Given the description of an element on the screen output the (x, y) to click on. 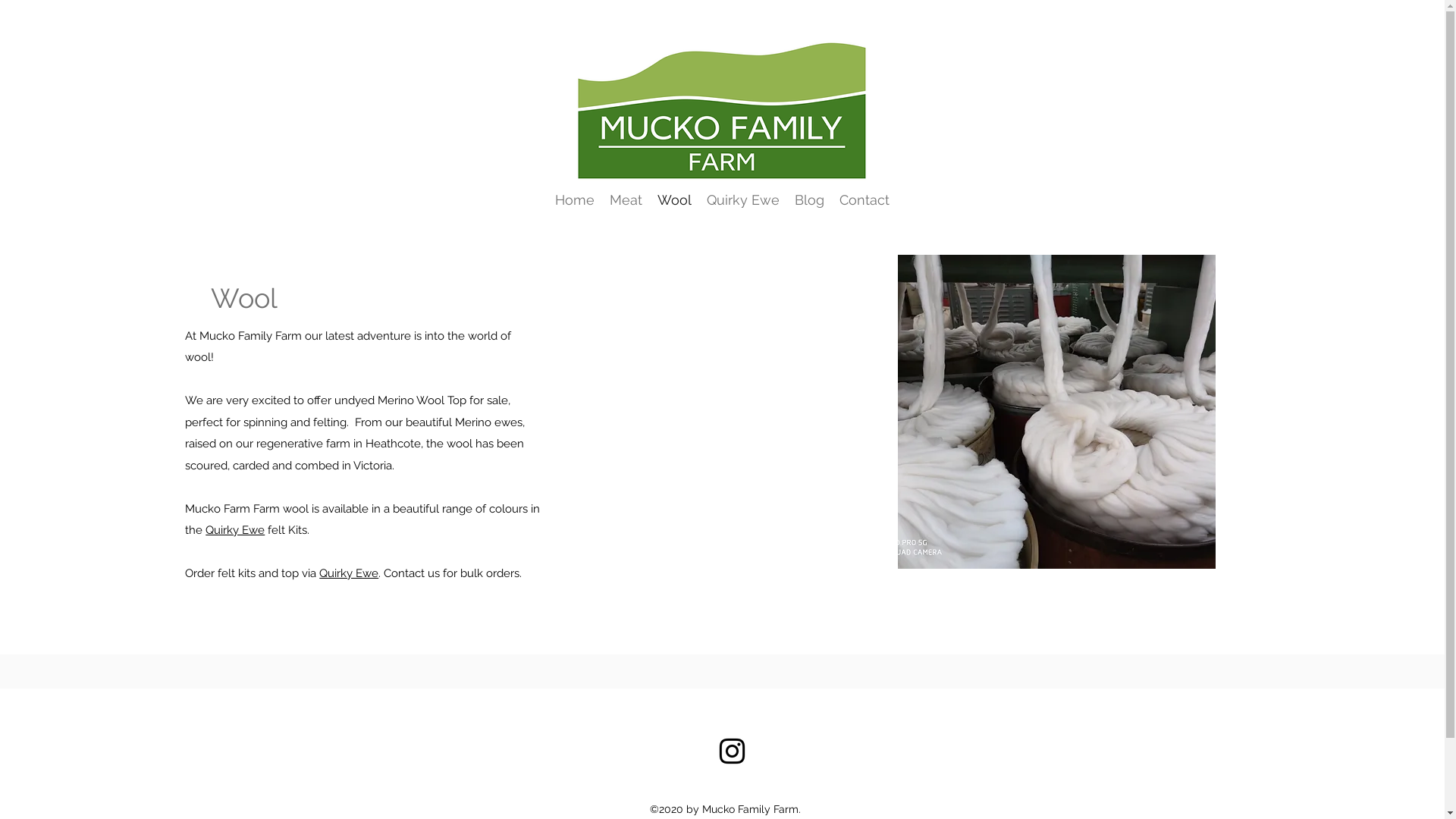
Quirky Ewe Element type: text (348, 573)
Wool Element type: text (674, 199)
Contact Element type: text (864, 199)
Quirky Ewe Element type: text (743, 199)
Blog Element type: text (809, 199)
Home Element type: text (574, 199)
Quirky Ewe Element type: text (234, 529)
Meat Element type: text (625, 199)
